Given the description of an element on the screen output the (x, y) to click on. 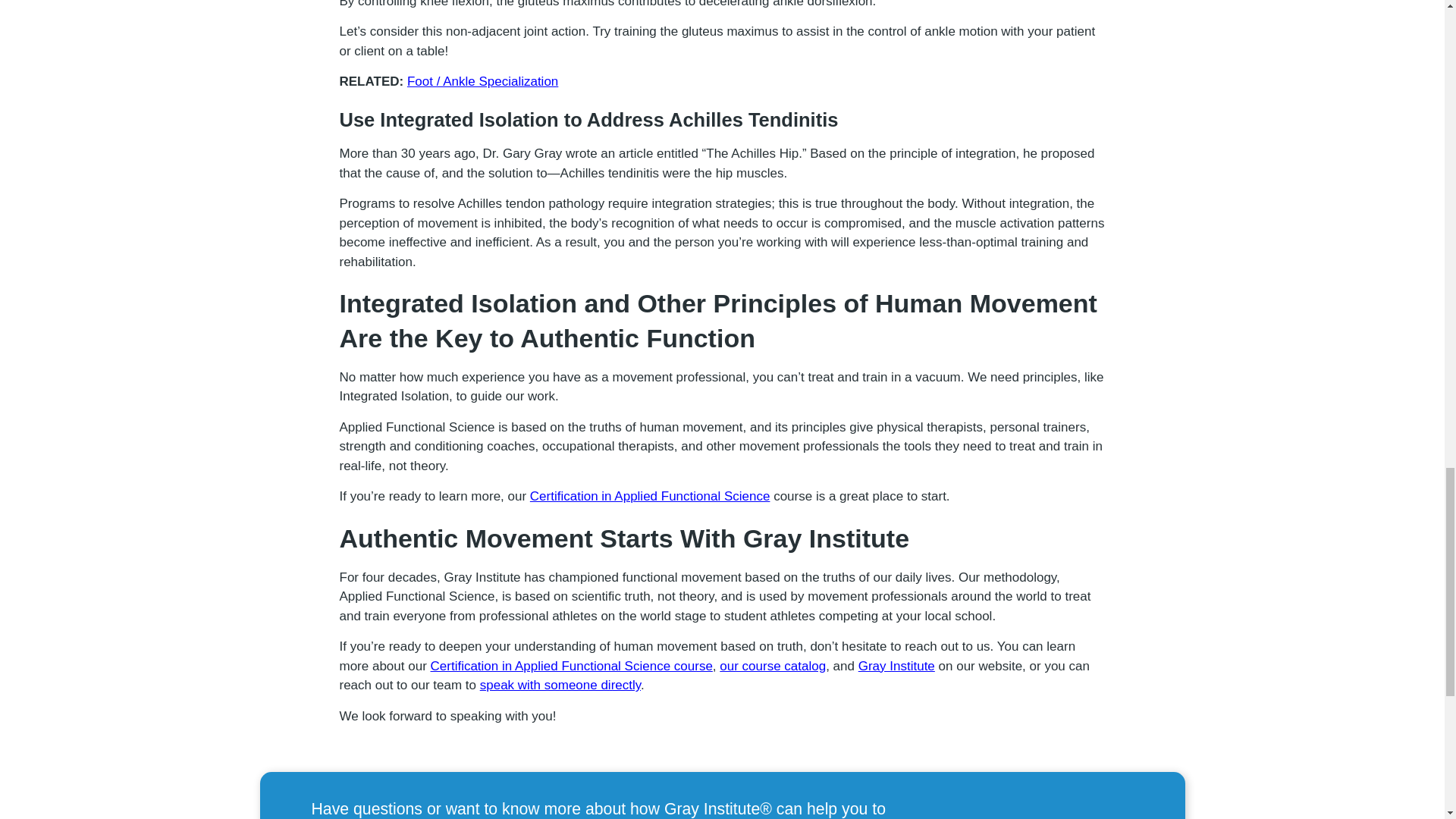
Certification in Applied Functional Science (649, 495)
Certification in Applied Functional Science course (571, 666)
